Given the description of an element on the screen output the (x, y) to click on. 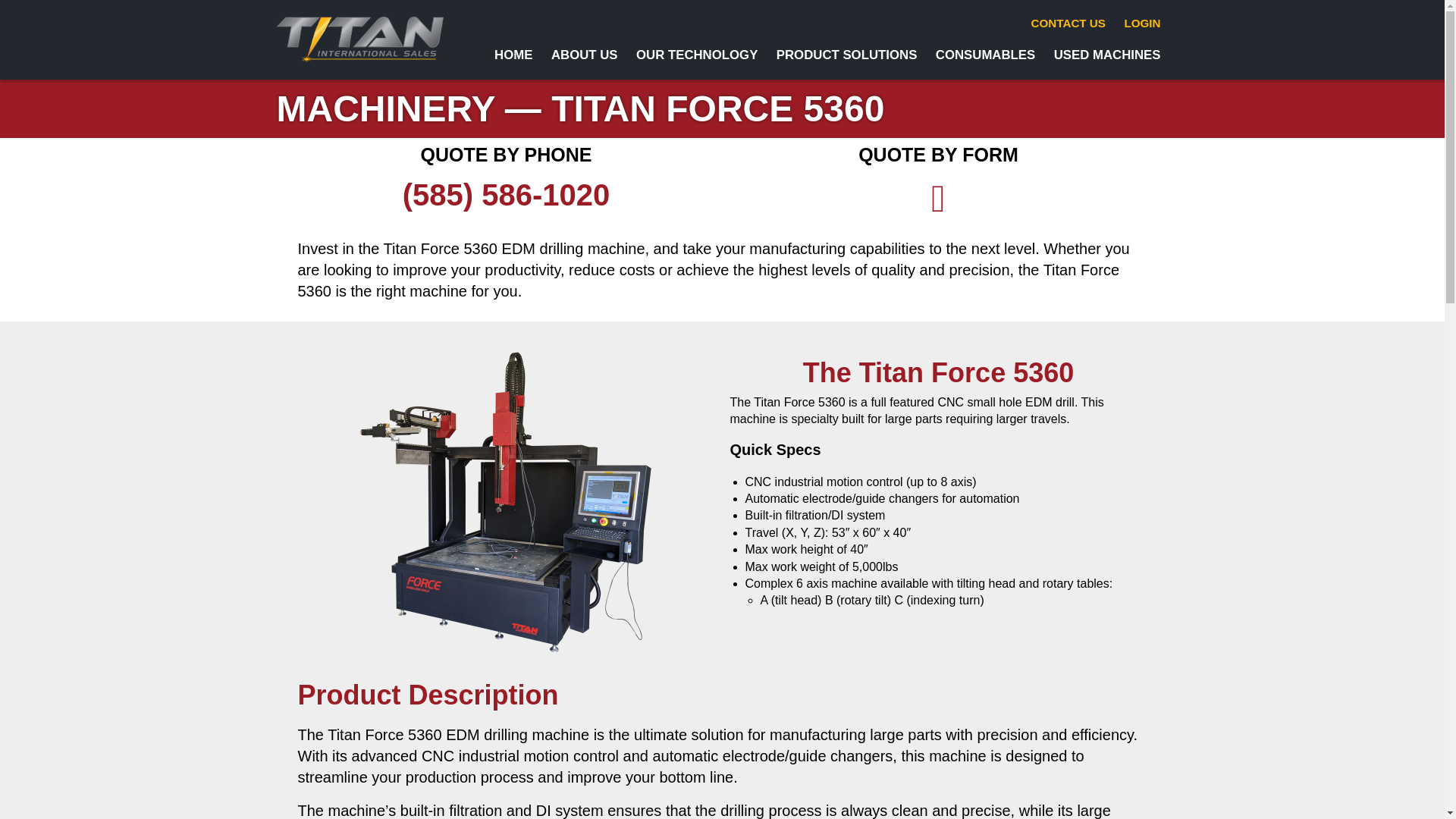
LOGIN (1141, 23)
OUR TECHNOLOGY (696, 54)
PRODUCT SOLUTIONS (846, 54)
ABOUT US (584, 54)
HOME (513, 54)
CONTACT US (1068, 23)
USED MACHINES (1107, 54)
TitanForce4240 (506, 503)
CONSUMABLES (985, 54)
